Given the description of an element on the screen output the (x, y) to click on. 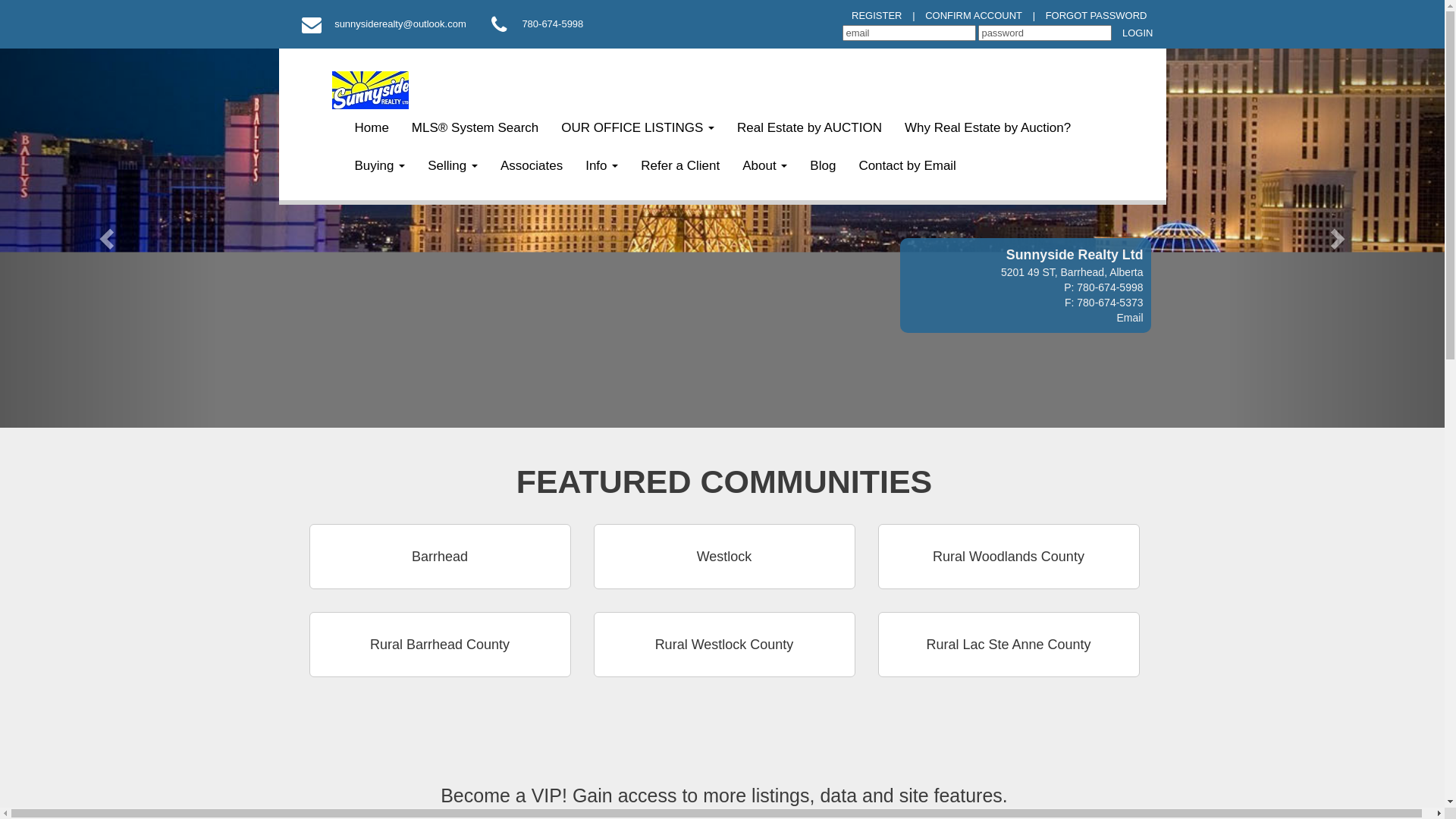
Rural Barrhead County Element type: text (440, 644)
Info Element type: text (601, 166)
Next Element type: text (1335, 237)
login Element type: text (1137, 32)
Contact by Email Element type: text (907, 166)
780-674-5998 Element type: text (548, 24)
Rural Lac Ste Anne County Element type: text (1008, 644)
REGISTER Element type: text (876, 16)
Rural Woodlands County Element type: text (1008, 556)
FORGOT PASSWORD Element type: text (1096, 16)
Why Real Estate by Auction? Element type: text (987, 128)
Previous Element type: text (108, 237)
About Element type: text (764, 166)
Rural Westlock County Element type: text (723, 644)
Rural Lac Ste Anne County Element type: text (1008, 699)
Selling Element type: text (452, 166)
Blog Element type: text (822, 166)
Email Element type: text (1129, 317)
Barrhead Element type: text (440, 556)
Refer a Client Element type: text (680, 166)
sunnysiderealty@outlook.com Element type: text (395, 24)
Barrhead Element type: text (440, 567)
Home Element type: text (370, 128)
Rural Woodlands County Element type: text (1008, 567)
Rural Barrhead County Element type: text (440, 699)
Westlock Element type: text (723, 567)
Real Estate by AUCTION Element type: text (809, 128)
OUR OFFICE LISTINGS Element type: text (637, 128)
Buying Element type: text (379, 166)
Westlock Element type: text (723, 556)
Rural Westlock County Element type: text (723, 655)
CONFIRM ACCOUNT Element type: text (973, 16)
Associates Element type: text (531, 166)
